Given the description of an element on the screen output the (x, y) to click on. 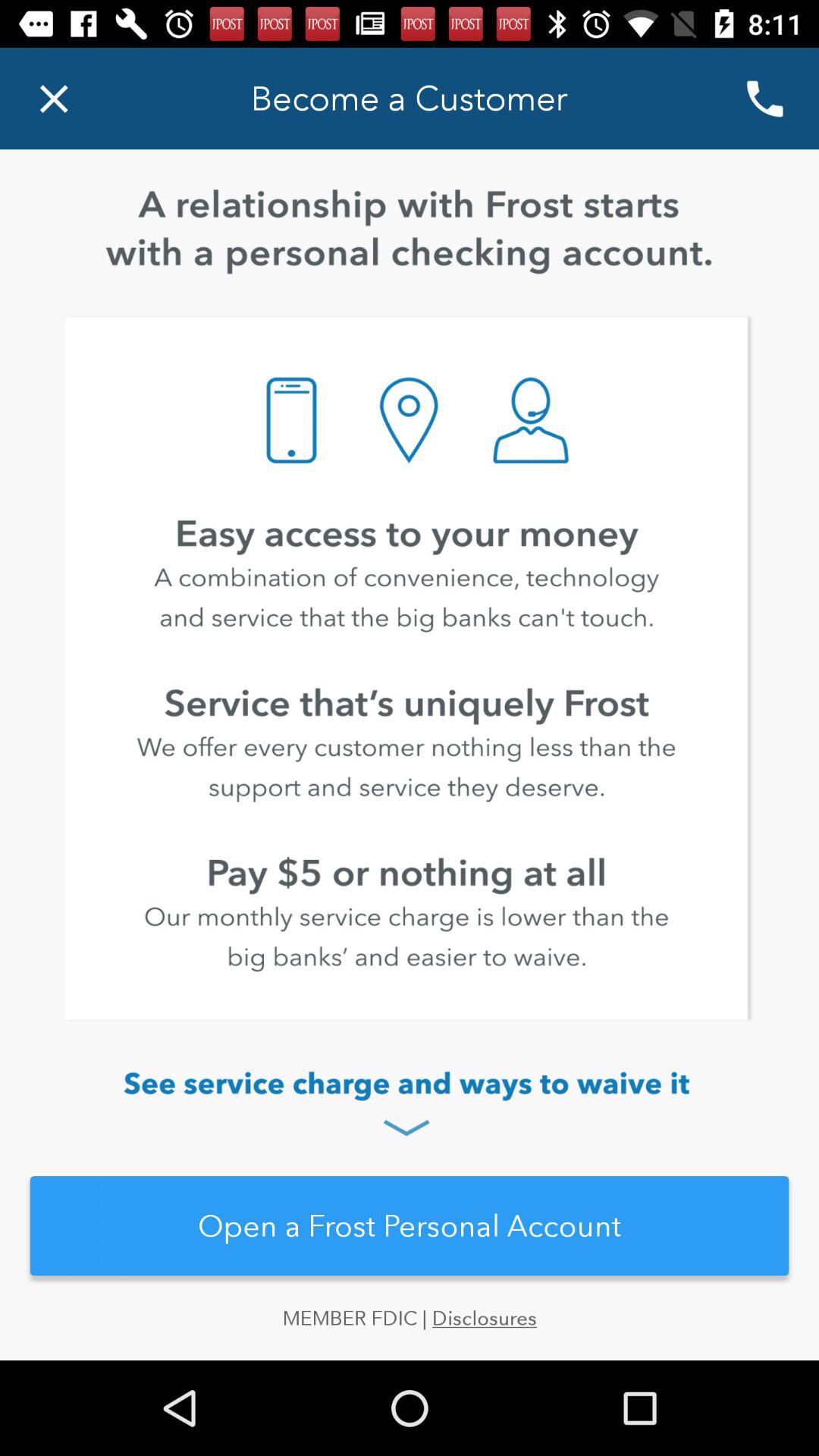
launch the item above member fdic | disclosures (409, 1225)
